Given the description of an element on the screen output the (x, y) to click on. 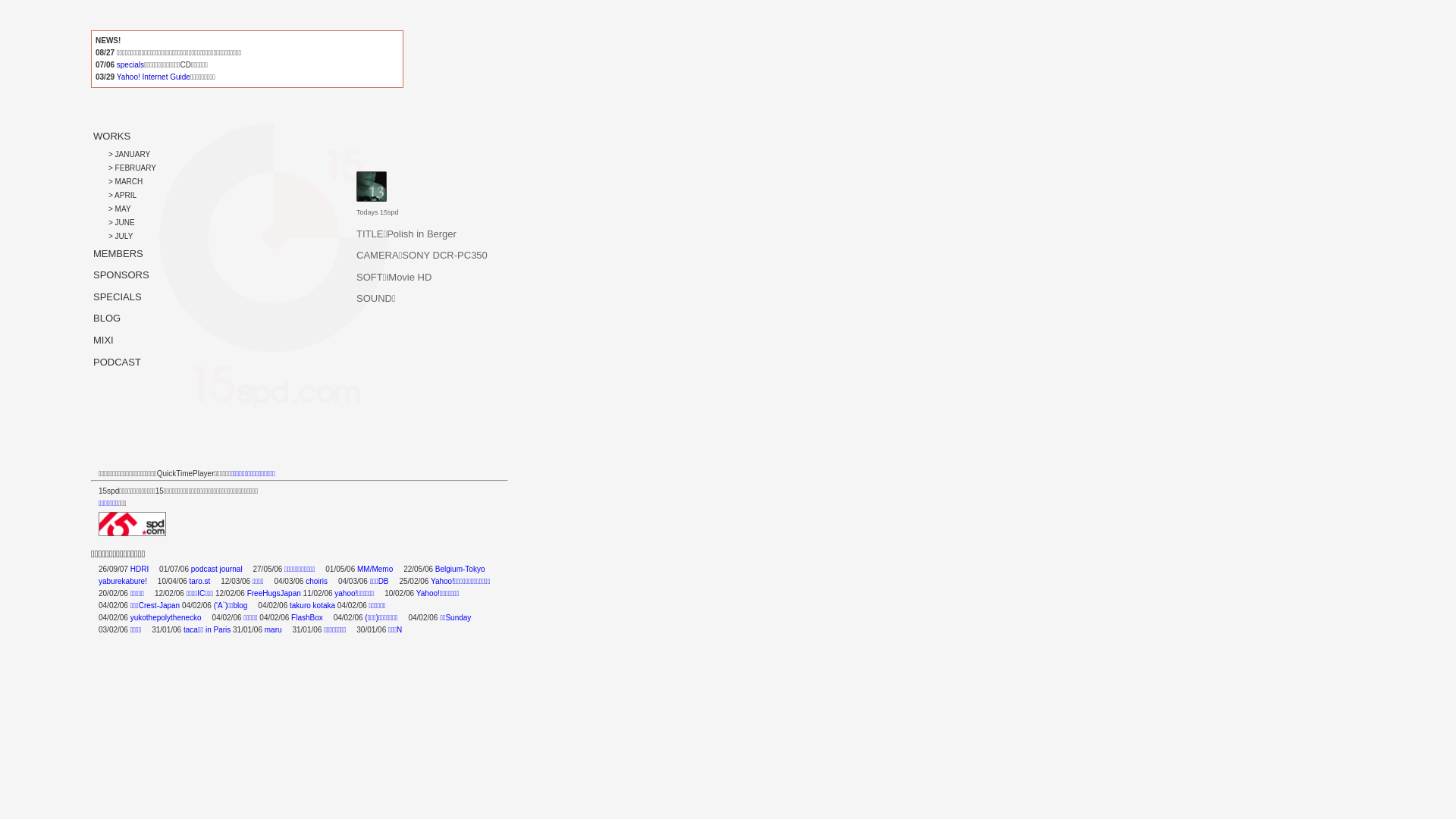
> MAY Element type: text (119, 208)
> JUNE Element type: text (121, 222)
SPECIALS Element type: text (117, 296)
MEMBERS Element type: text (118, 253)
MIXI Element type: text (103, 339)
PODCAST  Element type: text (118, 361)
podcast journal Element type: text (216, 568)
maru Element type: text (273, 629)
HDRI Element type: text (139, 568)
> APRIL Element type: text (122, 195)
FreeHugsJapan Element type: text (274, 593)
FlashBox Element type: text (307, 617)
BLOG Element type: text (106, 317)
MM/Memo Element type: text (374, 568)
yukothepolythenecko Element type: text (165, 617)
Yahoo! Internet Guide Element type: text (153, 76)
> FEBRUARY Element type: text (132, 167)
taro.st Element type: text (199, 581)
> MARCH Element type: text (125, 181)
SPONSORS Element type: text (121, 274)
> JULY Element type: text (120, 236)
takuro kotaka Element type: text (312, 605)
specials Element type: text (130, 64)
Belgium-Tokyo yaburekabure! Element type: text (291, 574)
> JANUARY Element type: text (129, 154)
choiris Element type: text (316, 581)
